Given the description of an element on the screen output the (x, y) to click on. 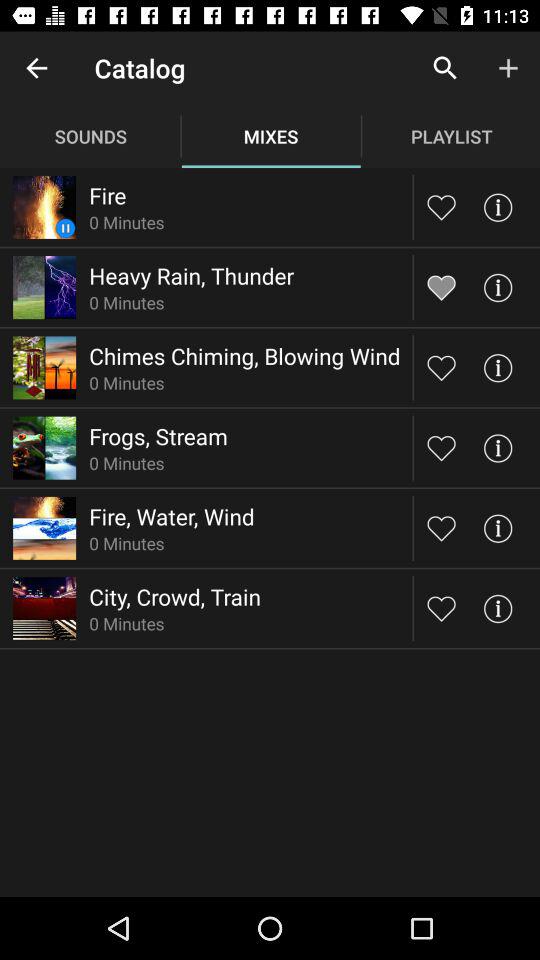
favorite the song (441, 447)
